Given the description of an element on the screen output the (x, y) to click on. 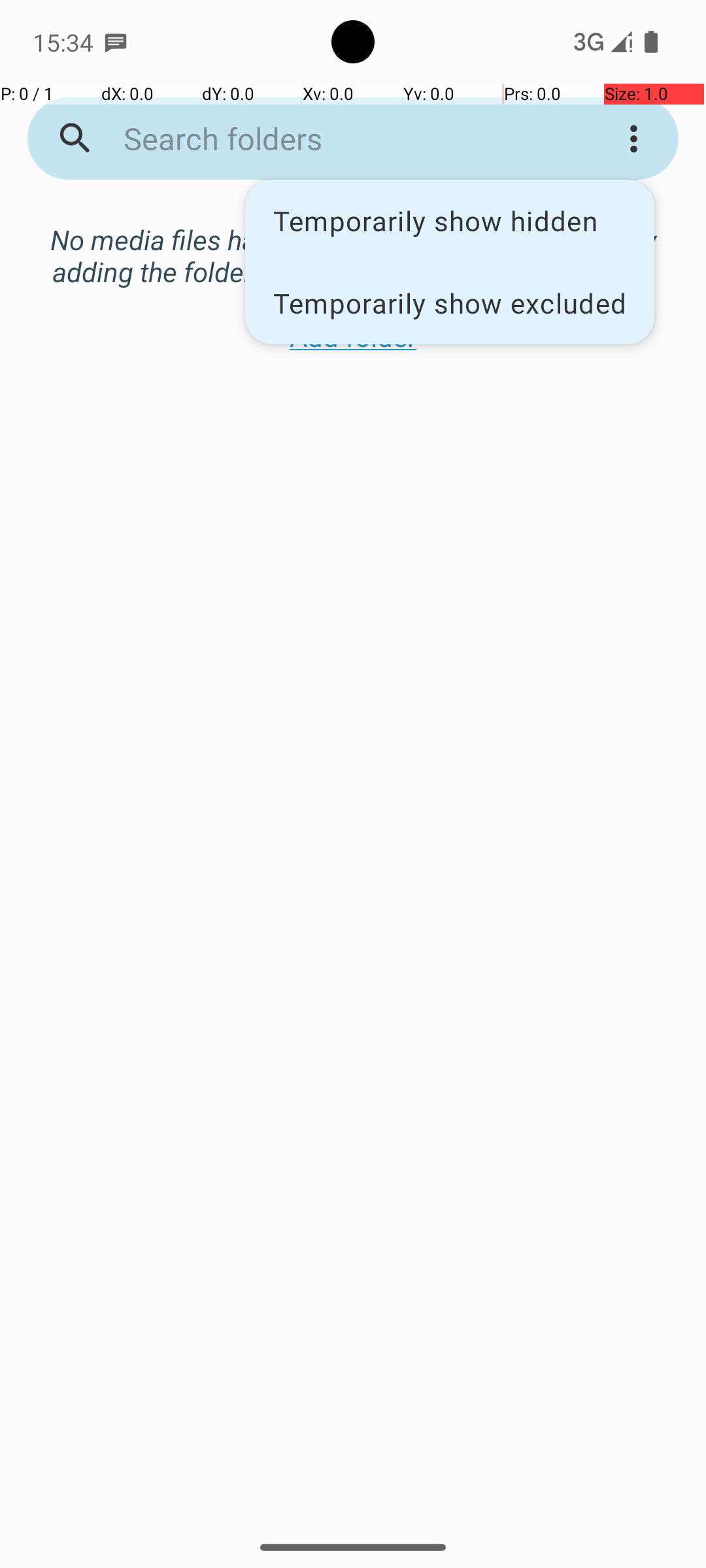
Temporarily show hidden Element type: android.widget.TextView (449, 220)
Temporarily show excluded Element type: android.widget.TextView (449, 302)
